Given the description of an element on the screen output the (x, y) to click on. 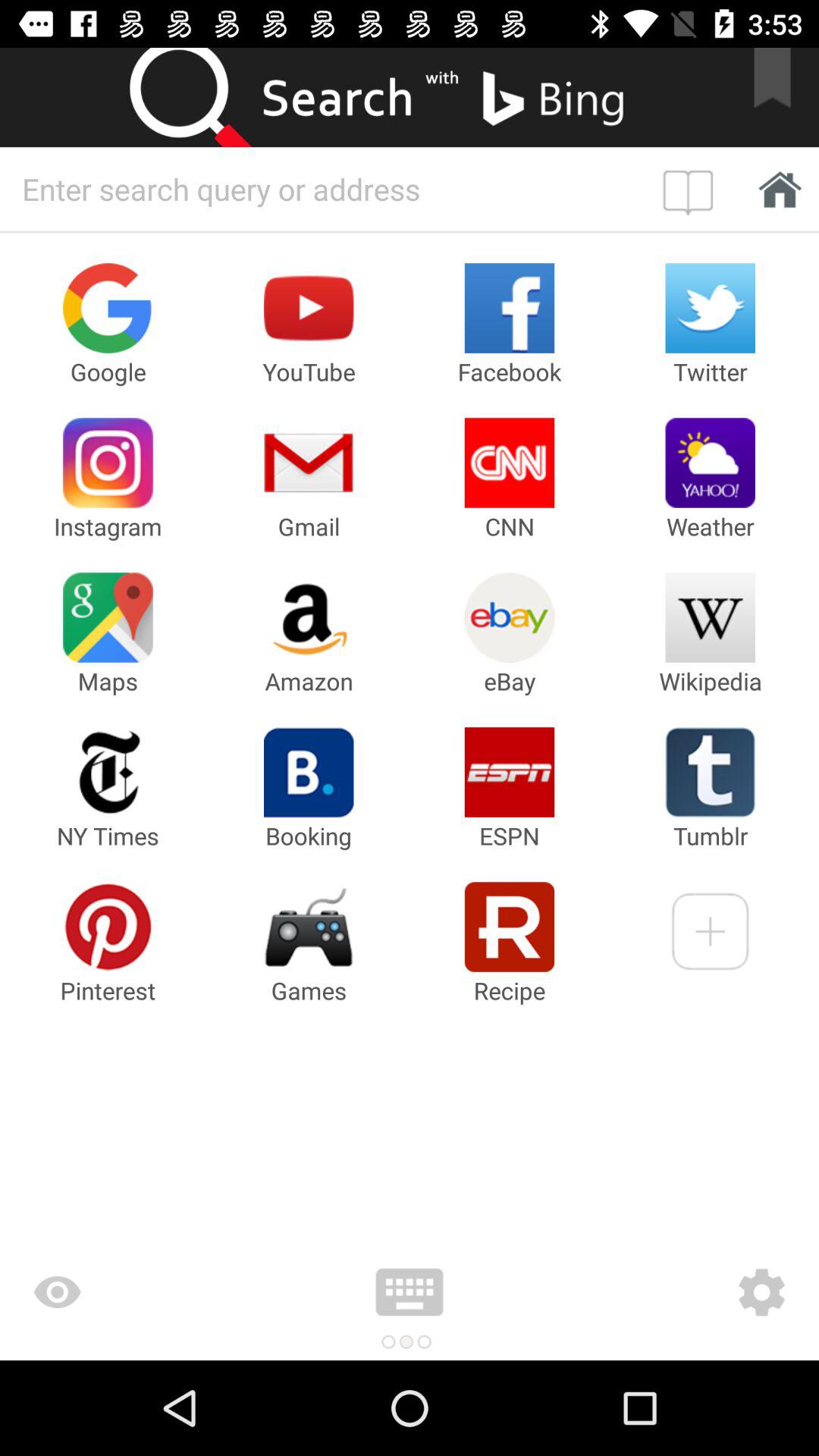
check settings (671, 1292)
